Given the description of an element on the screen output the (x, y) to click on. 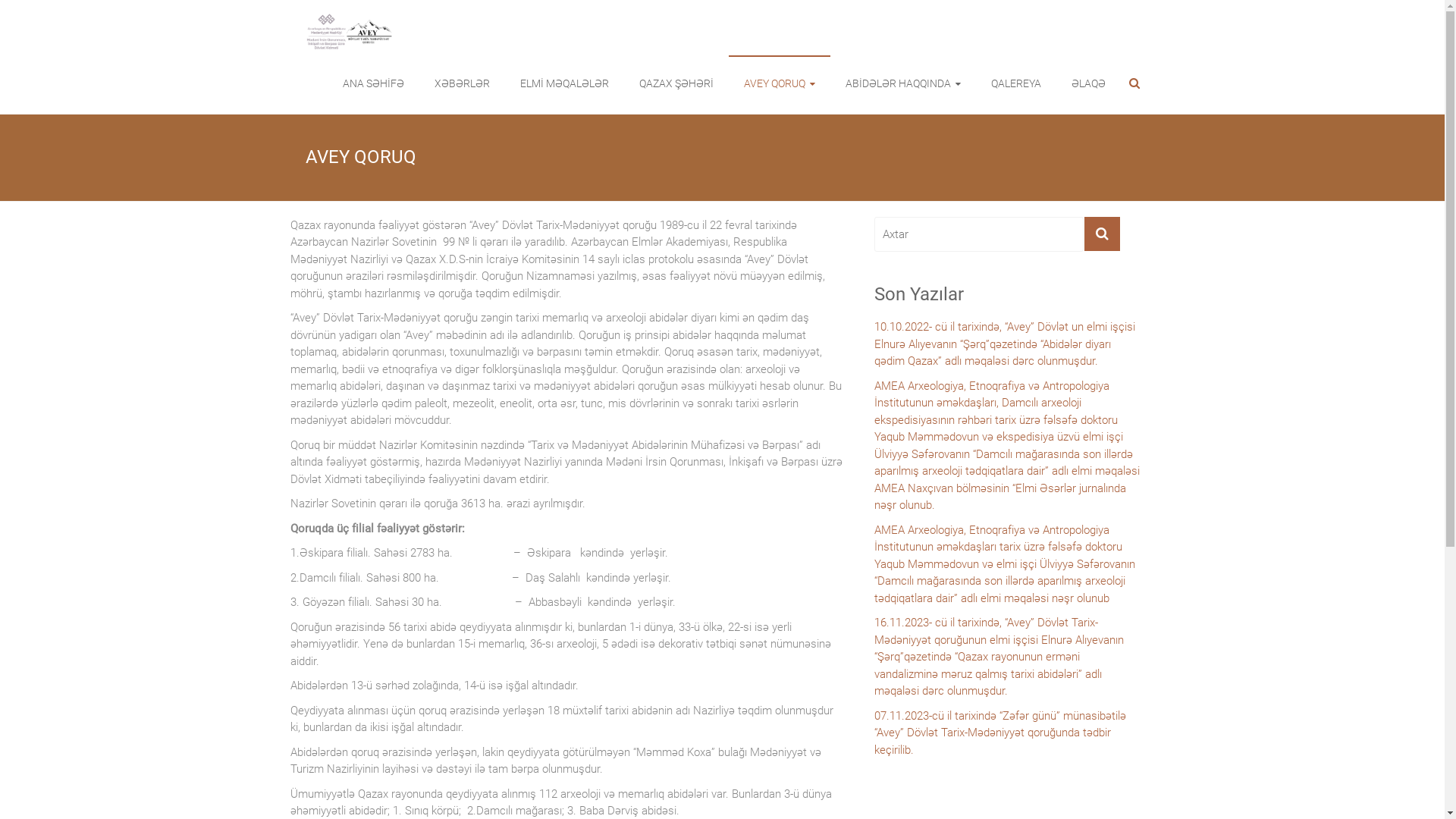
AVEY QORUQ Element type: text (778, 82)
QALEREYA Element type: text (1015, 82)
